Given the description of an element on the screen output the (x, y) to click on. 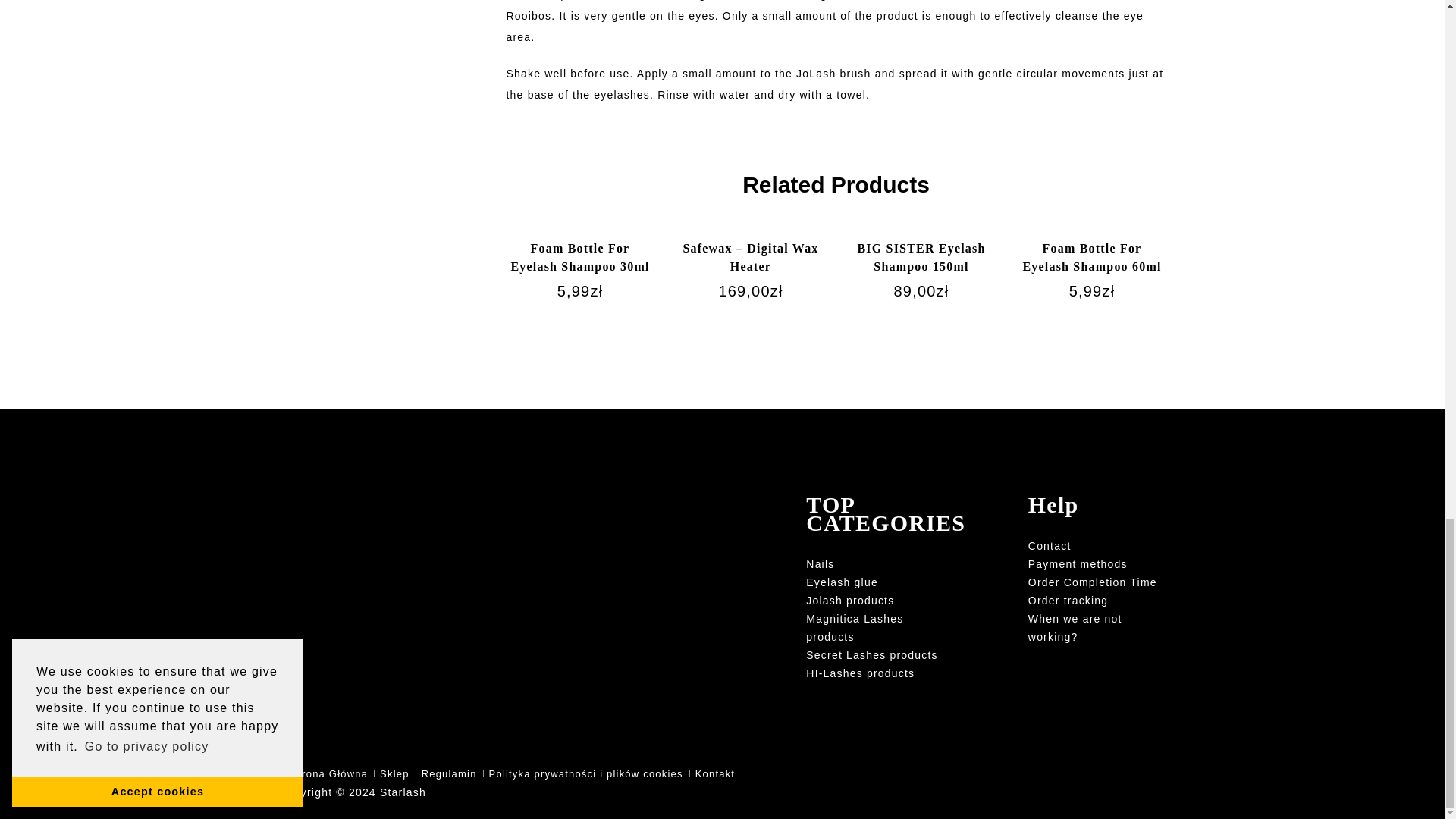
Original price:5.99 (580, 290)
